Given the description of an element on the screen output the (x, y) to click on. 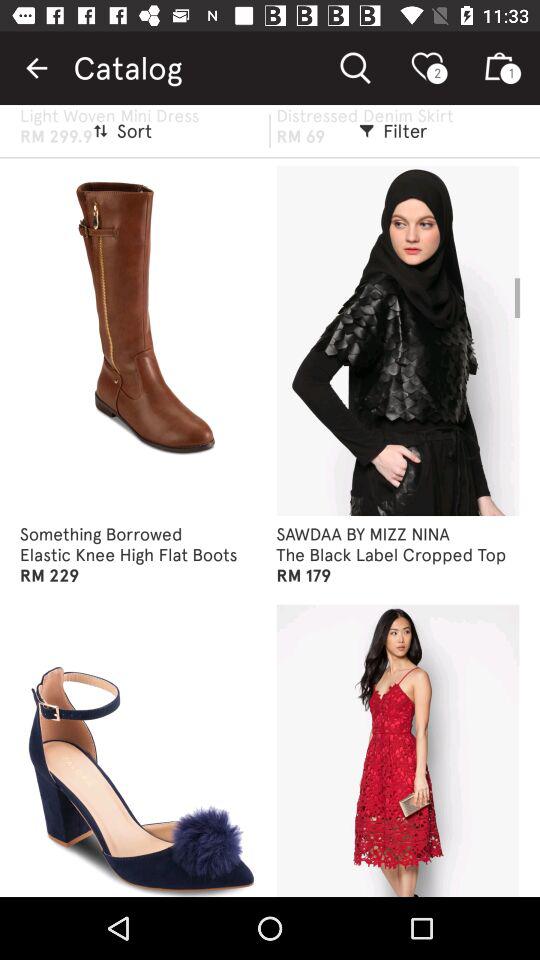
tap the icon to the left of the catalog item (36, 68)
